Given the description of an element on the screen output the (x, y) to click on. 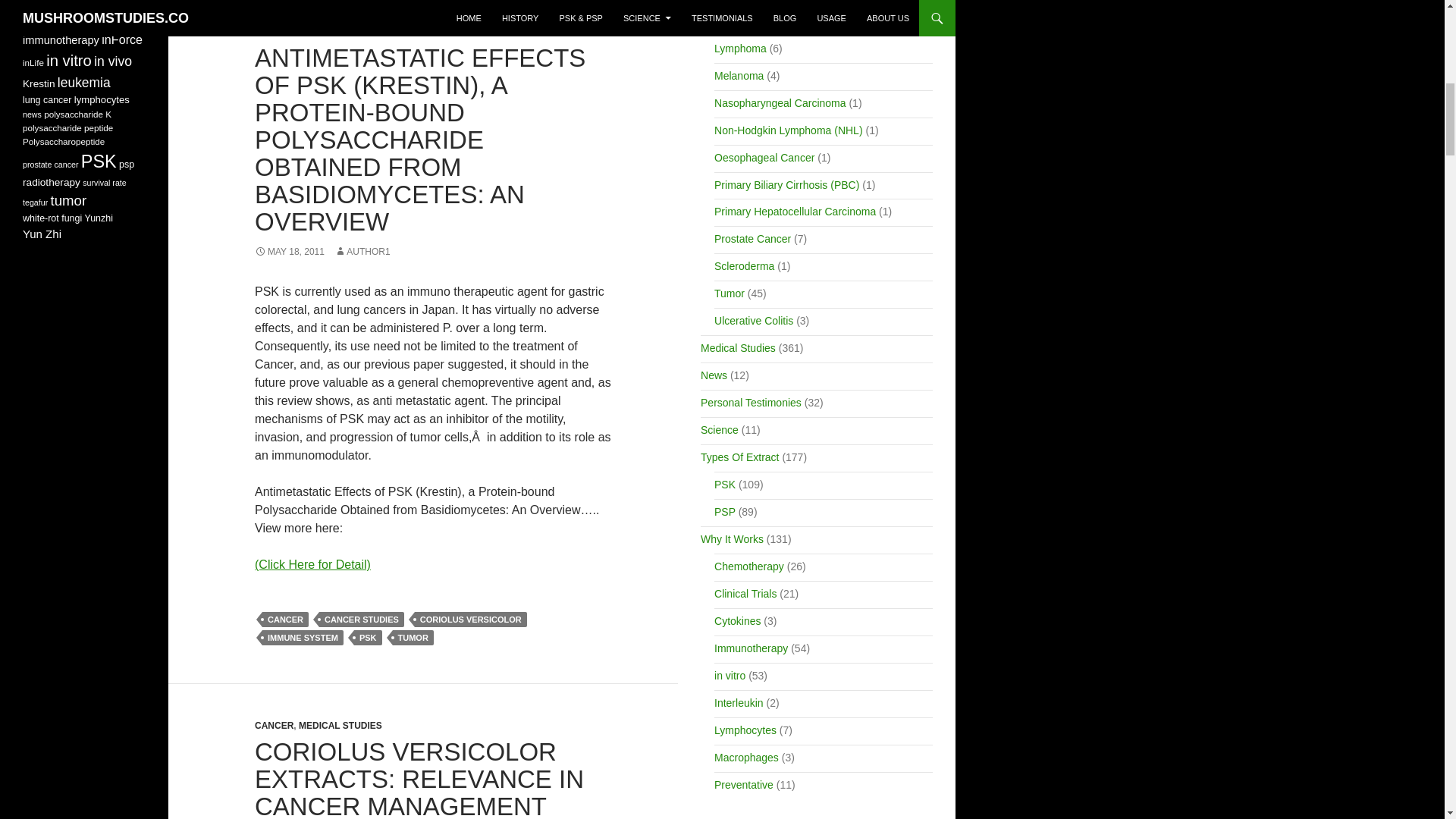
MAY 18, 2011 (289, 251)
PSP (395, 31)
MEDICAL STUDIES (339, 31)
CANCER (274, 31)
